Given the description of an element on the screen output the (x, y) to click on. 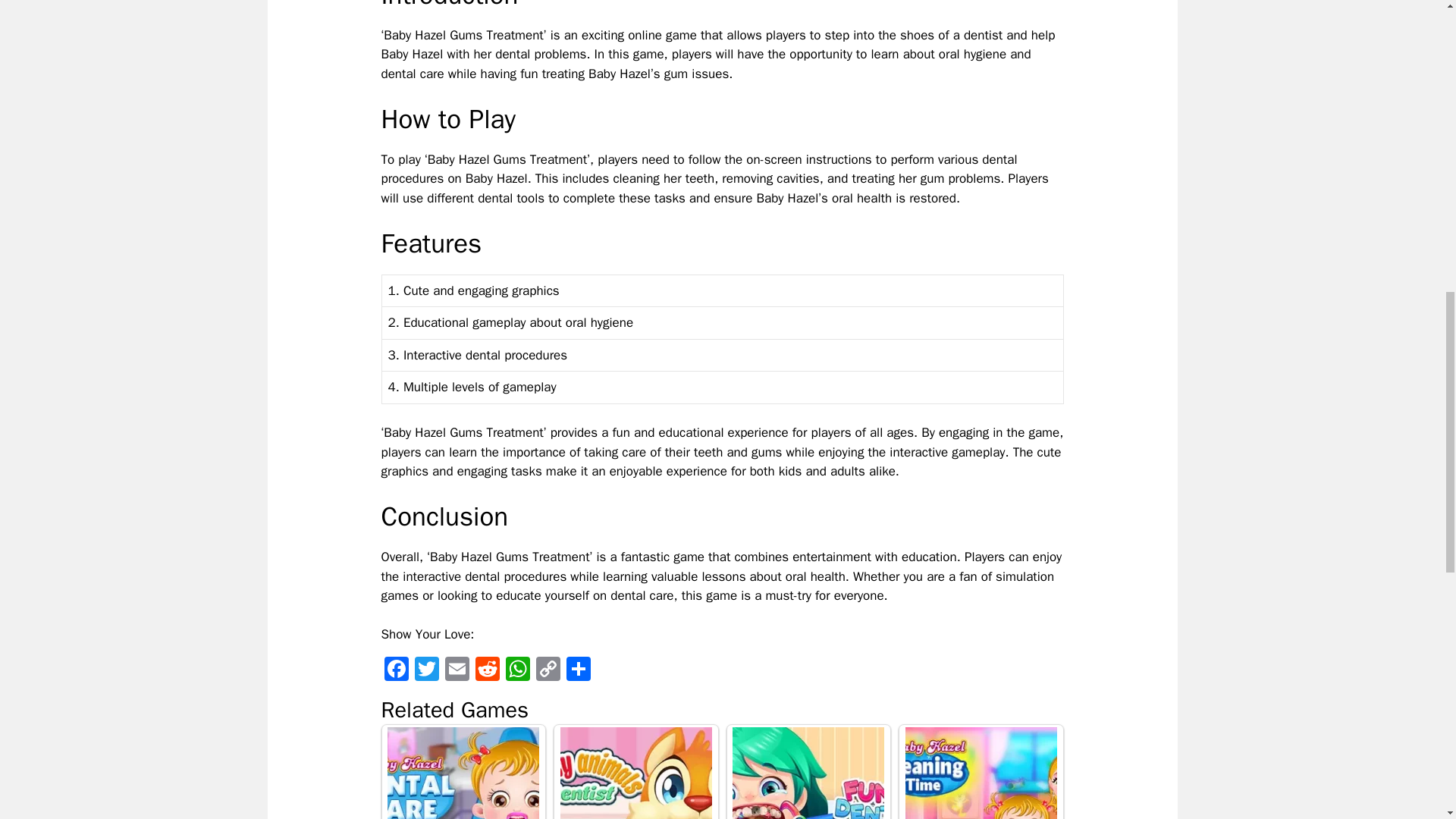
WhatsApp (517, 670)
Play Baby Hazel Cleaning Time Game (981, 773)
Facebook (395, 670)
Reddit (486, 670)
Share (577, 670)
Email (456, 670)
Email (456, 670)
Reddit (486, 670)
Play Crazy Animals Dentist Game (635, 771)
Play Baby Hazel Cleaning Time Game (980, 771)
Play Funny Dentist Surgery Game (807, 773)
Facebook (395, 670)
Copy Link (547, 670)
Play Baby Hazel Dental Care Game (463, 771)
Twitter (425, 670)
